Given the description of an element on the screen output the (x, y) to click on. 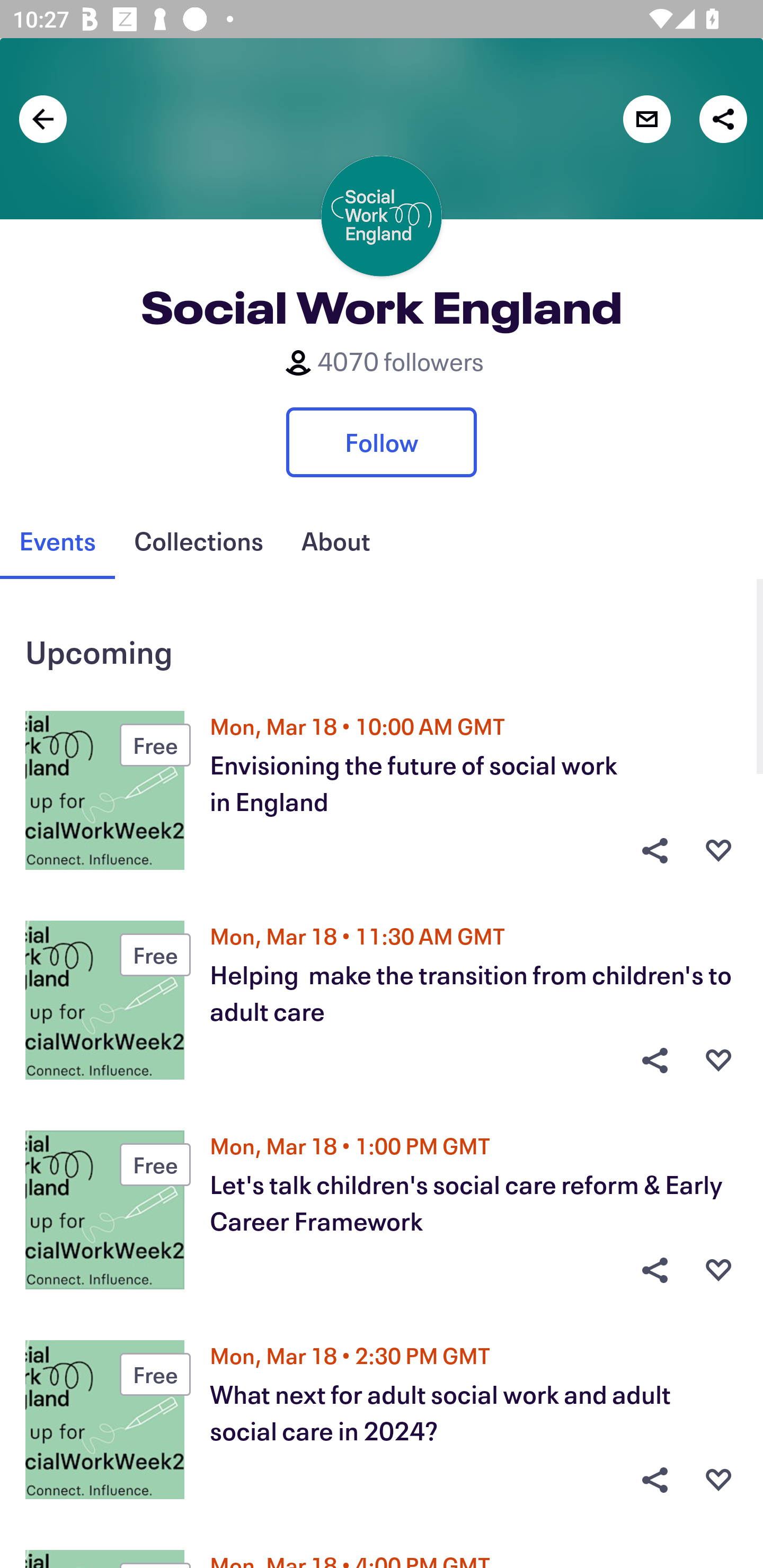
Back navigation arrow (43, 118)
Contact organizer (646, 118)
Share with friends (722, 118)
Follow (381, 441)
Collections (198, 540)
About (335, 540)
Share Event (654, 850)
Like event (718, 850)
Share Event (654, 1060)
Like event (718, 1060)
Share Event (654, 1269)
Like event (718, 1269)
Share Event (654, 1480)
Like event (718, 1480)
